Given the description of an element on the screen output the (x, y) to click on. 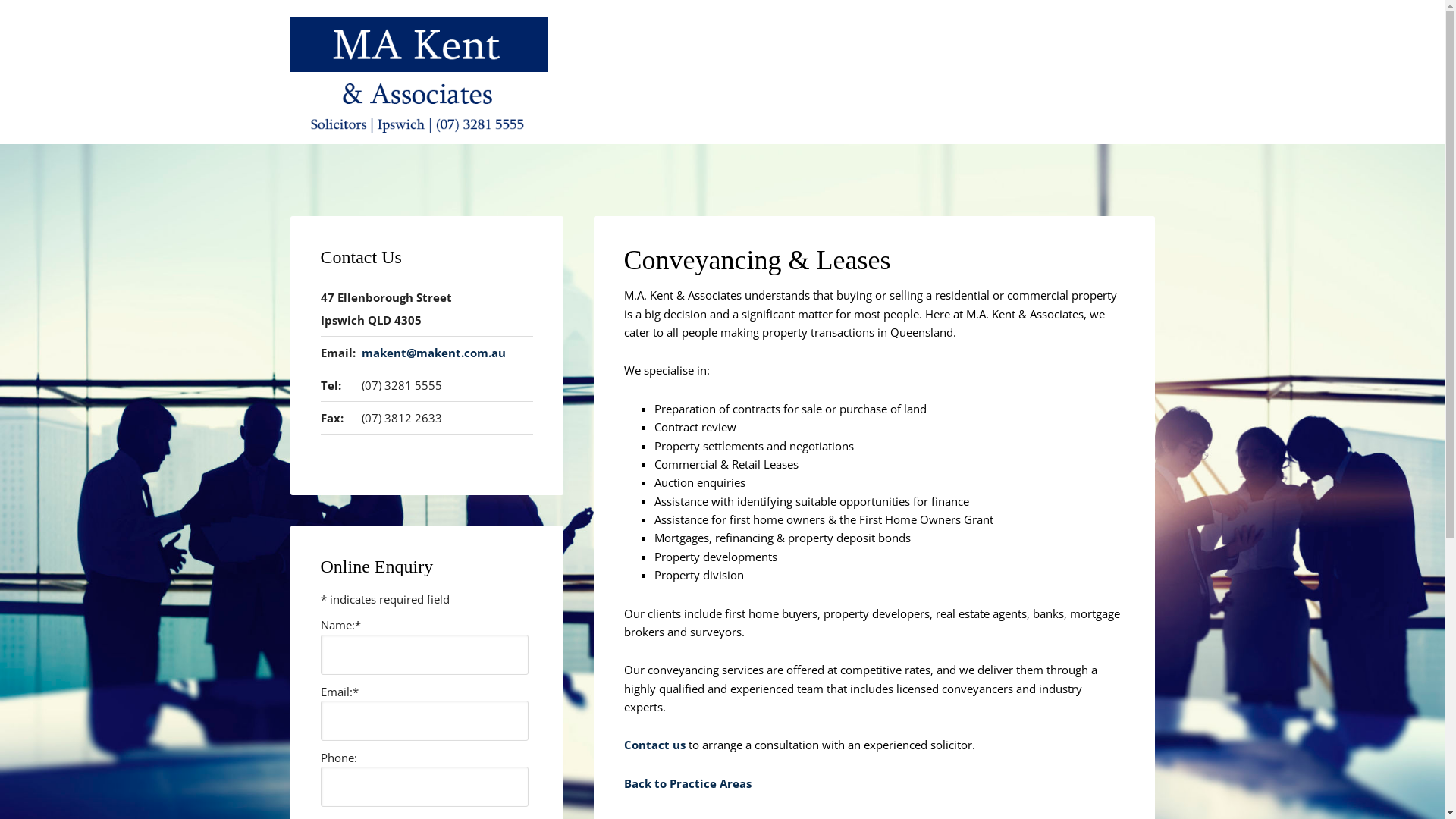
Contact us Element type: text (653, 744)
M.A. Kent & Associates Element type: hover (418, 119)
Back to Practice Areas Element type: text (686, 782)
makent@makent.com.au Element type: text (433, 352)
